Given the description of an element on the screen output the (x, y) to click on. 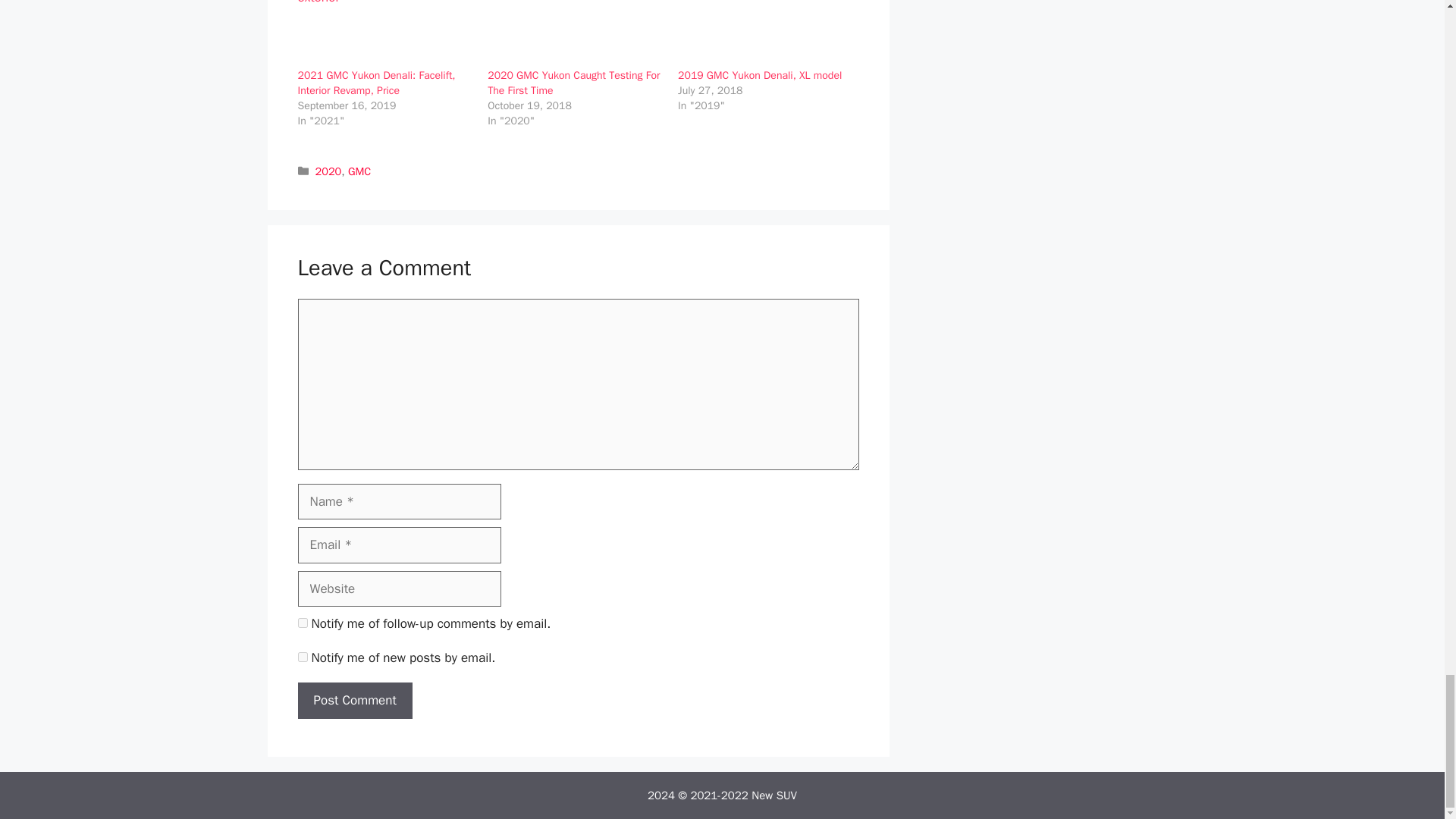
2019 GMC Yukon Denali, XL model (759, 74)
Post Comment (354, 700)
2021 GMC Yukon Denali: Facelift, Interior Revamp, Price (375, 82)
2021 GMC Yukon Denali: Facelift, Interior Revamp, Price (375, 82)
subscribe (302, 623)
2020 GMC Yukon Caught Testing For The First Time (573, 82)
2021 GMC Yukon Denali: Facelift, Interior Revamp, Price (384, 33)
subscribe (302, 656)
2020 (328, 171)
